Given the description of an element on the screen output the (x, y) to click on. 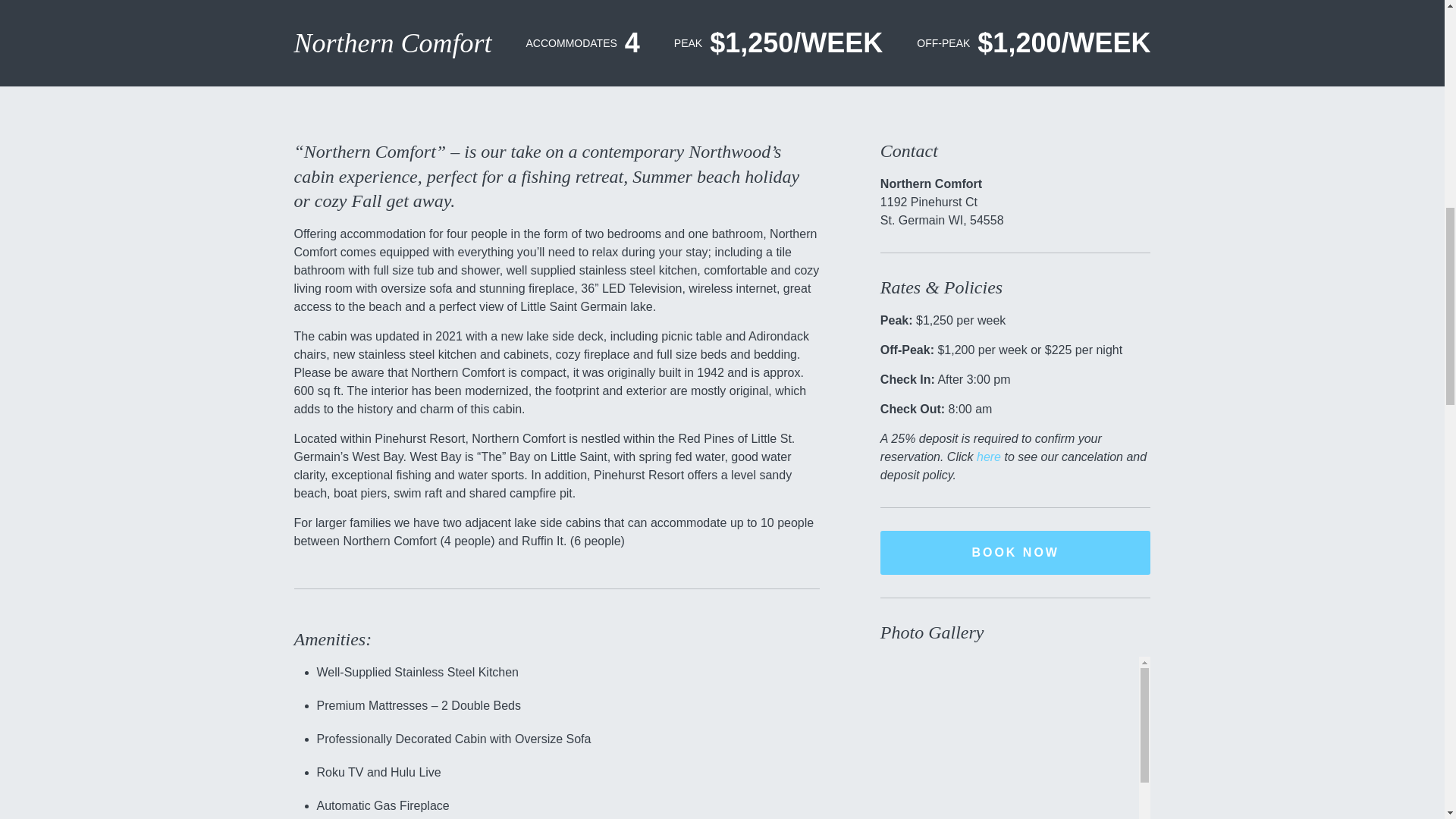
BOOK NOW (1015, 552)
here (988, 456)
